Given the description of an element on the screen output the (x, y) to click on. 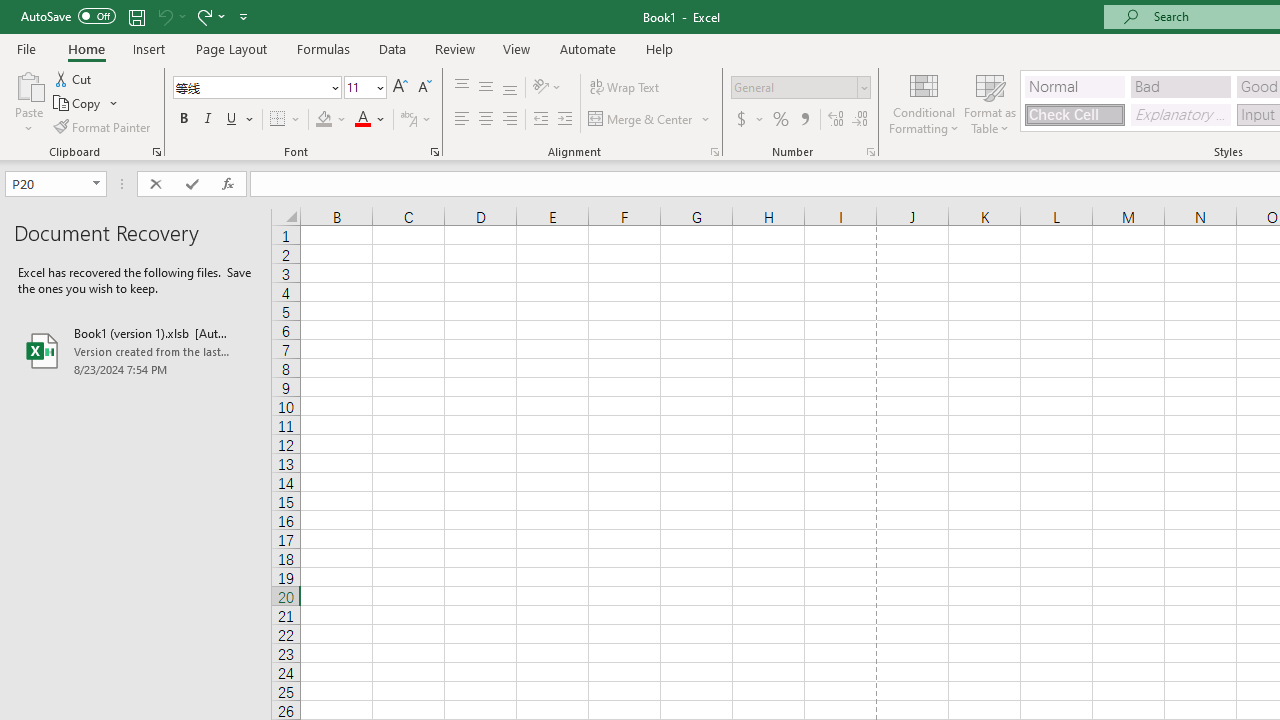
Align Left (461, 119)
Font (256, 87)
Fill Color RGB(255, 255, 0) (324, 119)
Format as Table (990, 102)
Font Color (370, 119)
Paste (28, 102)
Format Cell Font (434, 151)
Accounting Number Format (749, 119)
Increase Indent (565, 119)
